Given the description of an element on the screen output the (x, y) to click on. 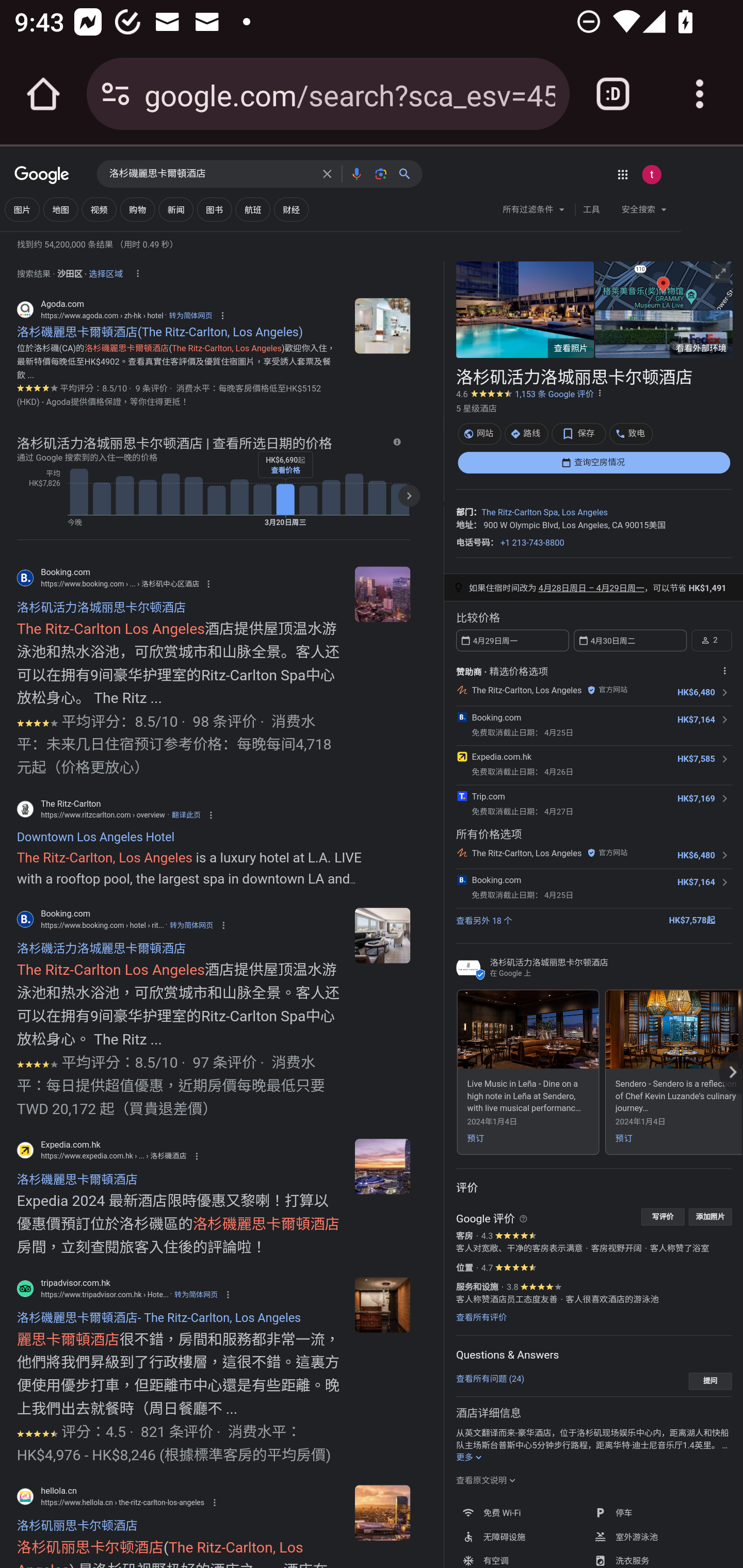
Open the home page (43, 93)
Connection is secure (115, 93)
Switch or close tabs (612, 93)
Customize and control Google Chrome (699, 93)
清除 (326, 172)
按语音搜索 (356, 172)
按图搜索 (380, 172)
搜索 (408, 172)
Google 应用 (622, 174)
Google 账号： test appium (testappium002@gmail.com) (650, 174)
Google (41, 176)
洛杉磯麗思卡爾頓酒店 (210, 173)
图片 (21, 209)
地图 (60, 209)
视频 (98, 209)
购物 (137, 209)
新闻 (175, 209)
图书 (213, 209)
航班 (253, 209)
财经 (291, 209)
所有过滤条件 (533, 211)
工具 (590, 209)
安全搜索 (643, 211)
选择区域 (105, 270)
查看照片 查看照片 (524, 309)
洛杉矶活力洛城丽思卡尔顿酒店地图 (662, 284)
位置信息使用方式 (136, 273)
los-angeles-ca-us (382, 324)
转为简体网页 (190, 314)
看看外部环境 看看外部环境 看看外部环境 看看外部环境 (662, 333)
更多选项 (599, 392)
1,153 条 Google 评价 (554, 393)
网站 (479, 433)
路线 (525, 433)
保存到您的列表中 (578, 433)
致电 (630, 433)
了解详情 (396, 441)
查询空房情况 (593, 462)
查看价格 (284, 470)
The Ritz-Carlton Spa, Los Angeles (543, 512)
地址 (464, 524)
拨打电话 +1 213-743-8800 (532, 542)
ritz-carlton-los-angeles.zh-cn (382, 594)
4月28日周日 – 4月29日周一 (590, 587)
请选择入住日期。目前的入住日期是 2024-04-29  (511, 639)
请选择退房日期。目前的退房日期是 2024-04-30  (629, 639)
请选择访客人数 (710, 639)
为什么会显示该广告？ (724, 669)
The Ritz-Carlton, Los Angeles (526, 690)
HK$6,480 (695, 691)
Booking.com (496, 716)
HK$7,164 (695, 719)
Expedia.com.hk (501, 756)
HK$7,585 (695, 759)
Trip.com (488, 795)
HK$7,169 (695, 797)
翻译此页 (185, 814)
The Ritz-Carlton, Los Angeles (526, 851)
HK$6,480 (695, 854)
Booking.com (496, 879)
HK$7,164 (695, 881)
ritz-carlton-los-angeles.zh-tw (382, 934)
查看另外 18 个 HK$7,578起 (593, 919)
转为简体网页 (191, 924)
Los-Angeles-Hotels-The-Ritz-Carlton.h3443706 (382, 1166)
写评价 (662, 1216)
添加照片 (709, 1216)
这是什么？ (523, 1218)
转为简体网页 (195, 1293)
查看所有评价 (481, 1317)
查看所有问题 (24) (489, 1378)
提问 (709, 1381)
更多有关“洛杉矶活力洛城丽思卡尔顿酒店”的信息 (469, 1457)
查看原文说明 (486, 1479)
the-ritz-carlton-los-angeles (382, 1512)
